Given the description of an element on the screen output the (x, y) to click on. 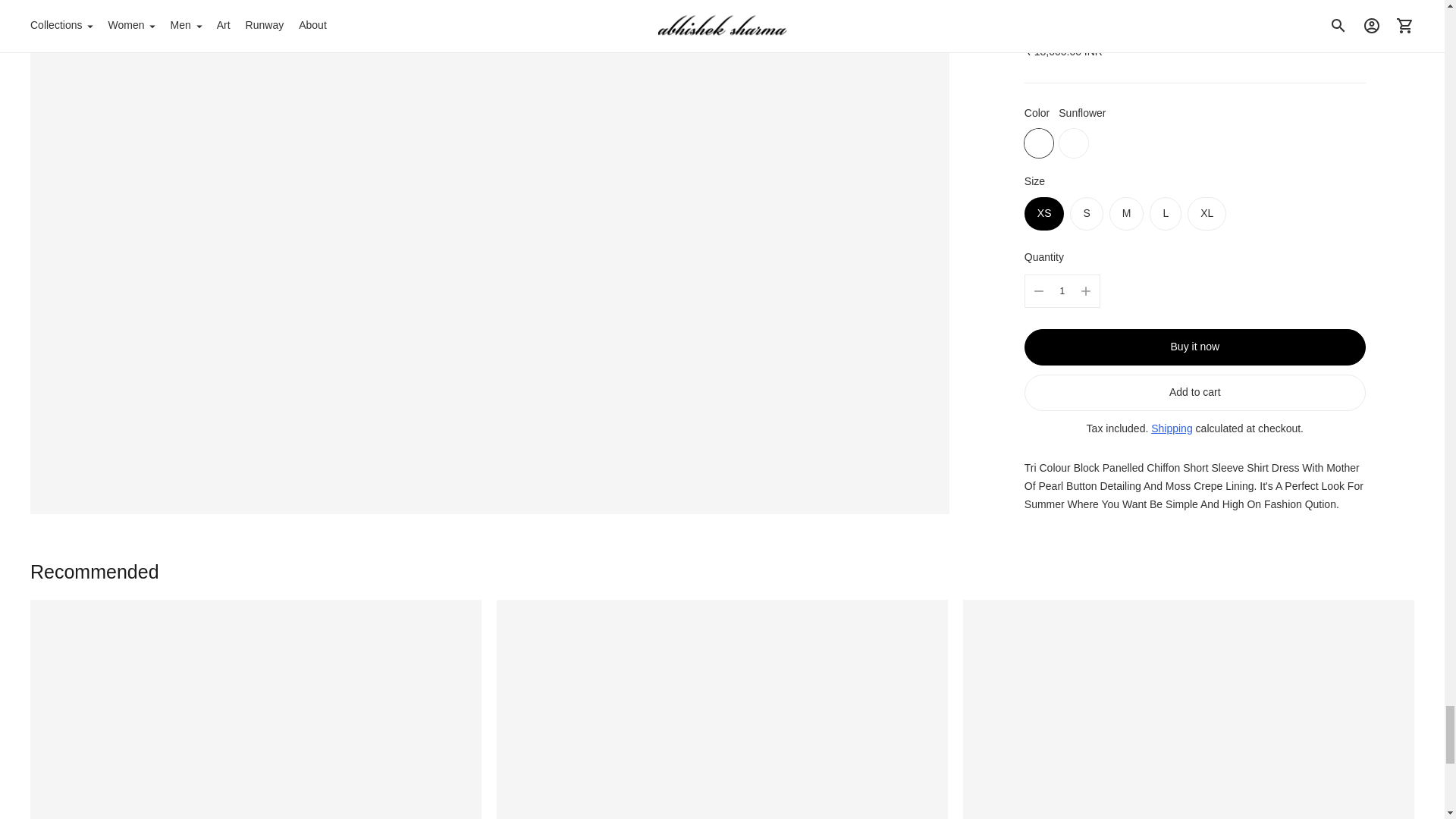
Draped Raised Neck Structured Top With Placement Embroidery (255, 709)
